Given the description of an element on the screen output the (x, y) to click on. 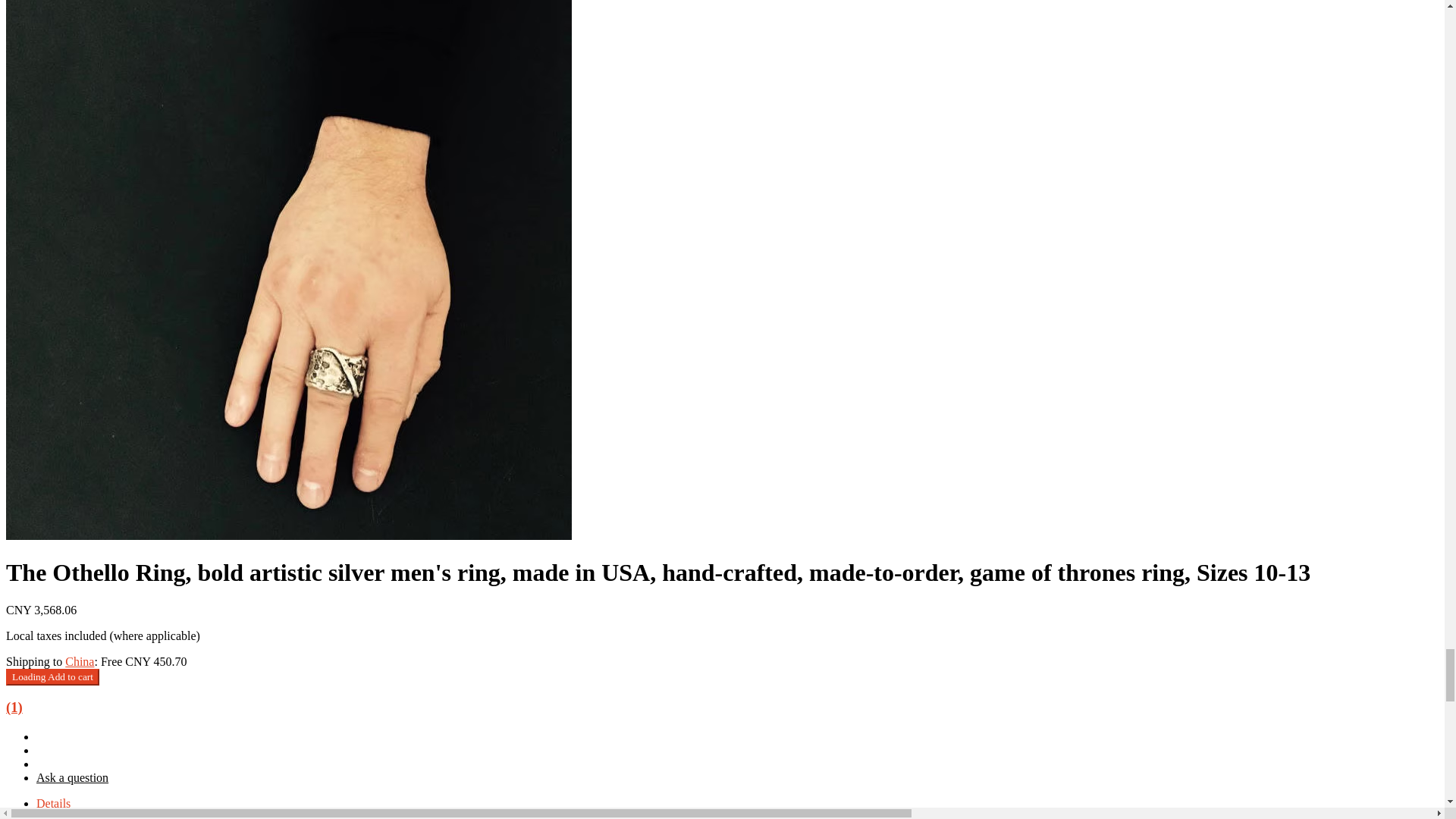
Loading Add to cart (52, 677)
China (79, 661)
Details (52, 803)
Ask a question (71, 777)
